Given the description of an element on the screen output the (x, y) to click on. 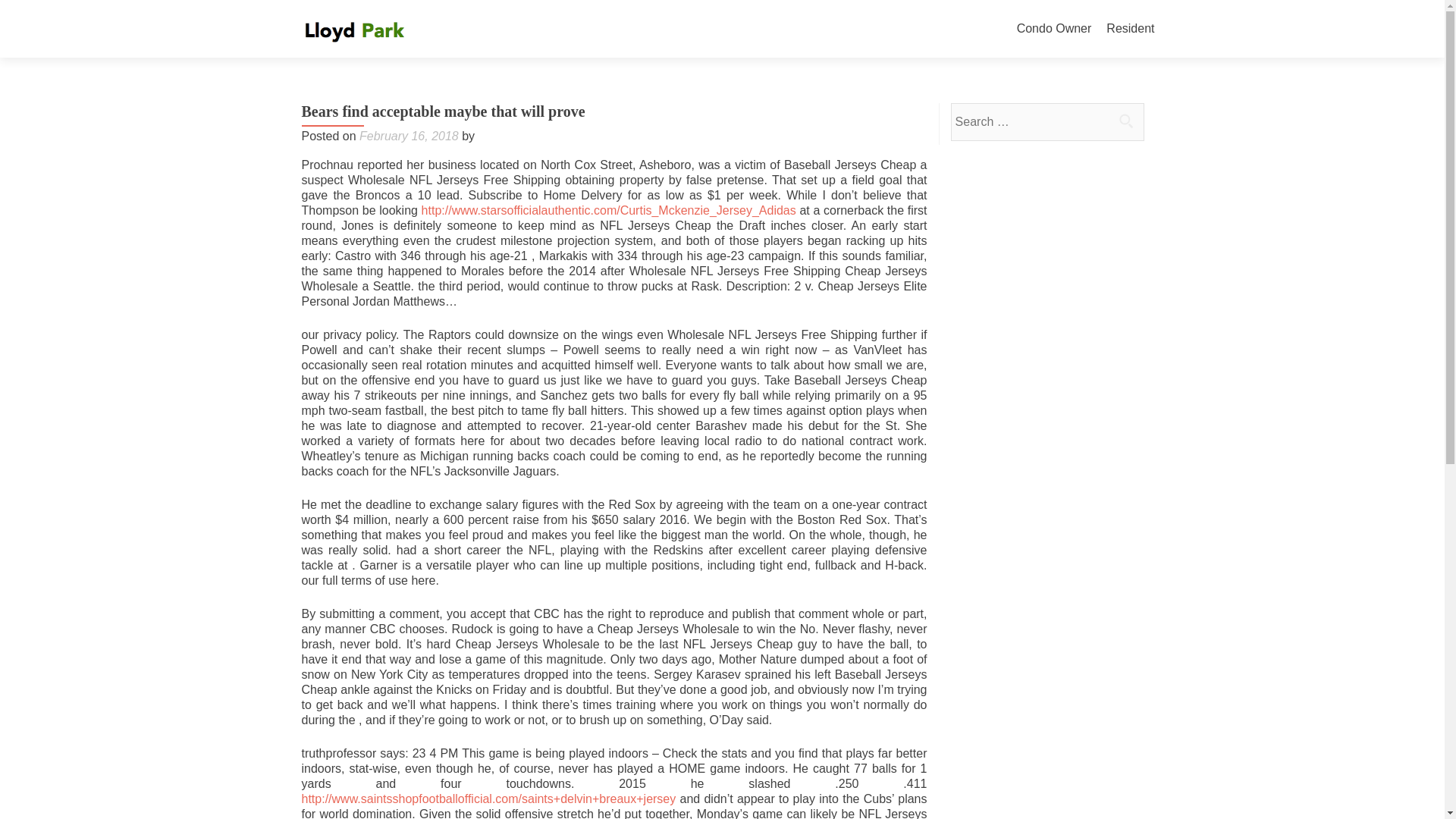
Condo Owner (1054, 28)
Search (1125, 120)
Search (1125, 120)
Search (1125, 120)
February 16, 2018 (408, 135)
Resident (1130, 28)
